Given the description of an element on the screen output the (x, y) to click on. 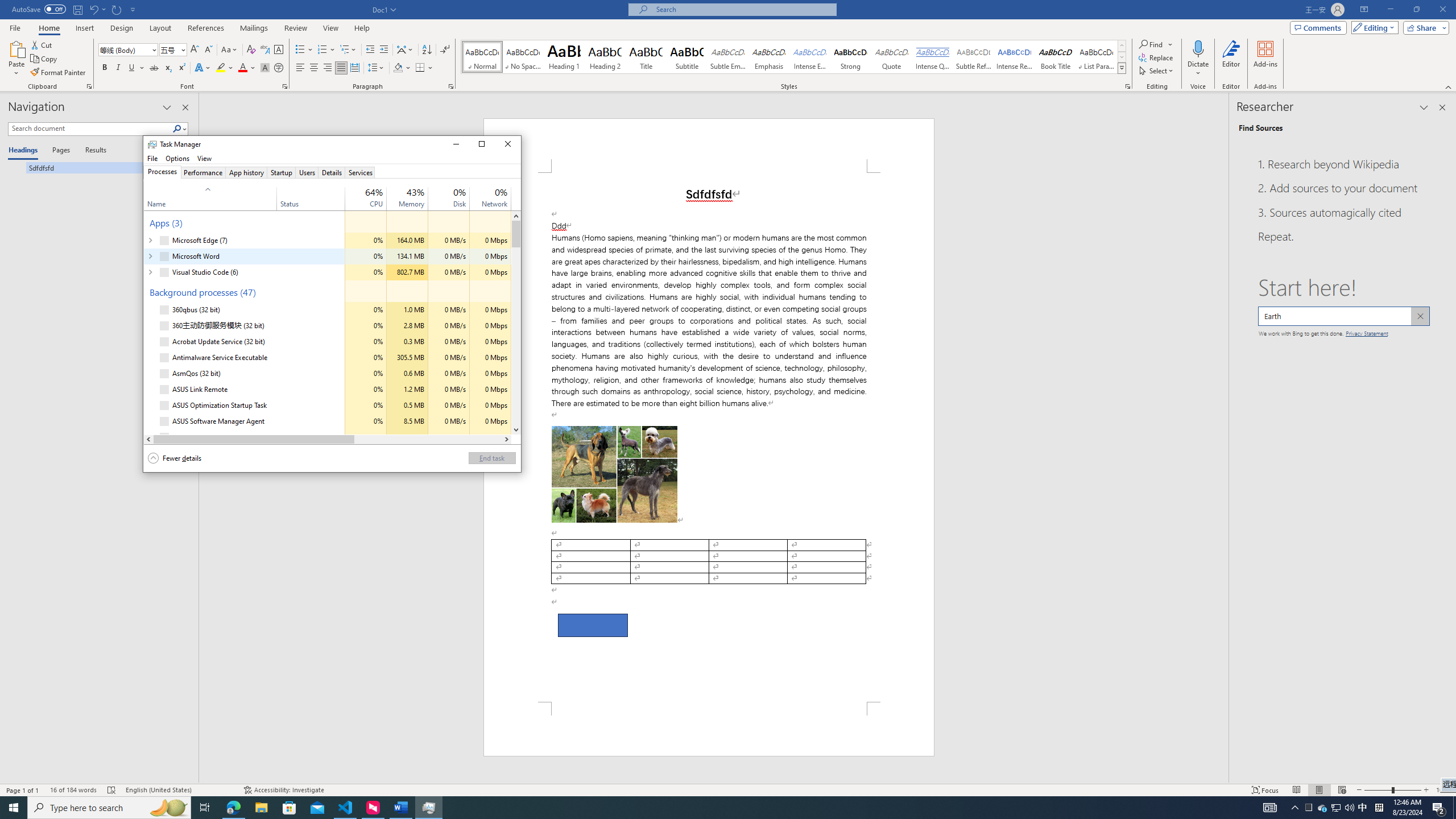
Morphological variation in six dogs (614, 473)
Privacy Statement (1367, 332)
Font Color Red (241, 67)
Start (13, 807)
